Given the description of an element on the screen output the (x, y) to click on. 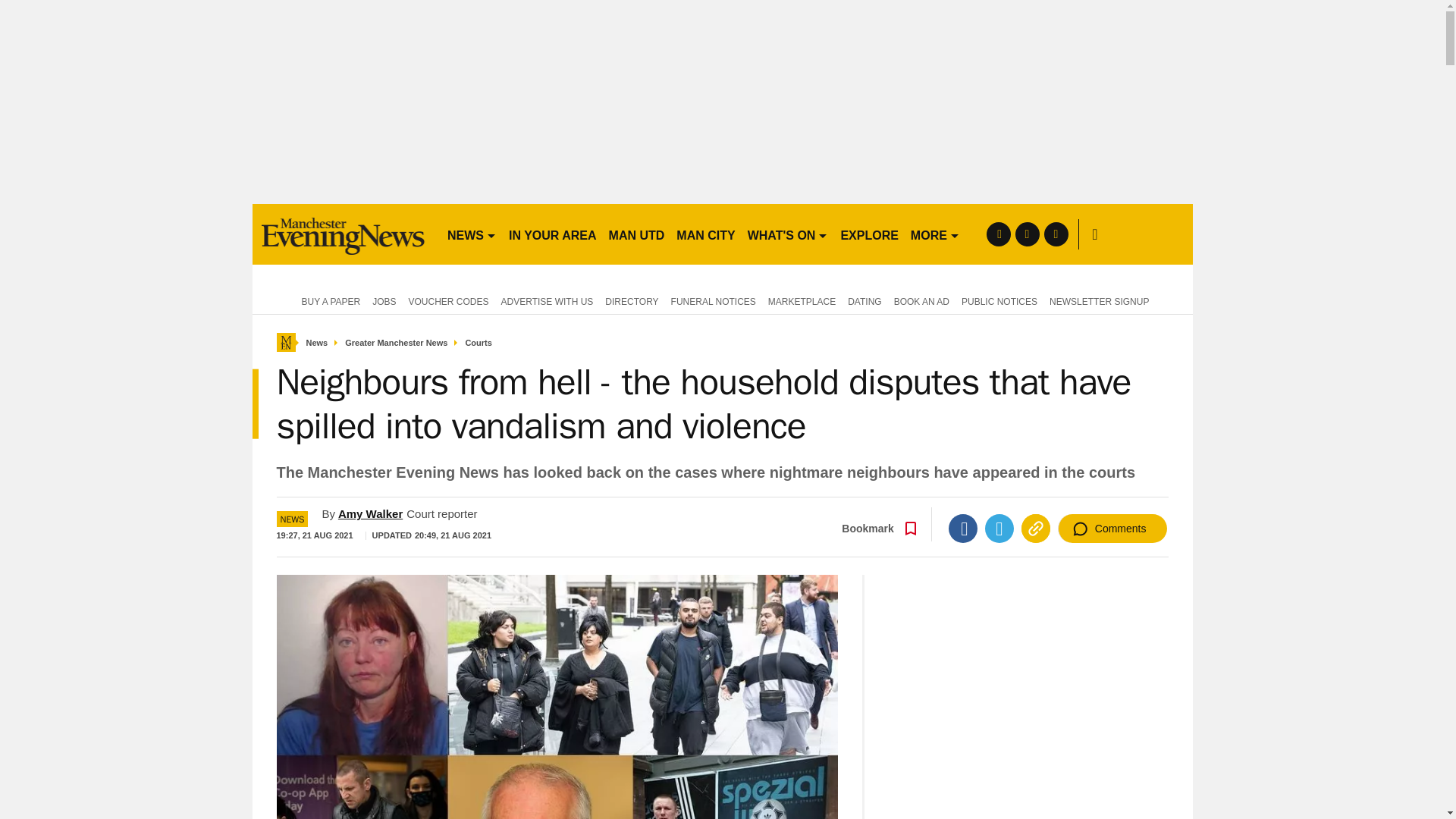
MAN CITY (705, 233)
twitter (1026, 233)
WHAT'S ON (787, 233)
MAN UTD (636, 233)
instagram (1055, 233)
Comments (1112, 528)
Facebook (962, 528)
facebook (997, 233)
men (342, 233)
IN YOUR AREA (552, 233)
